Given the description of an element on the screen output the (x, y) to click on. 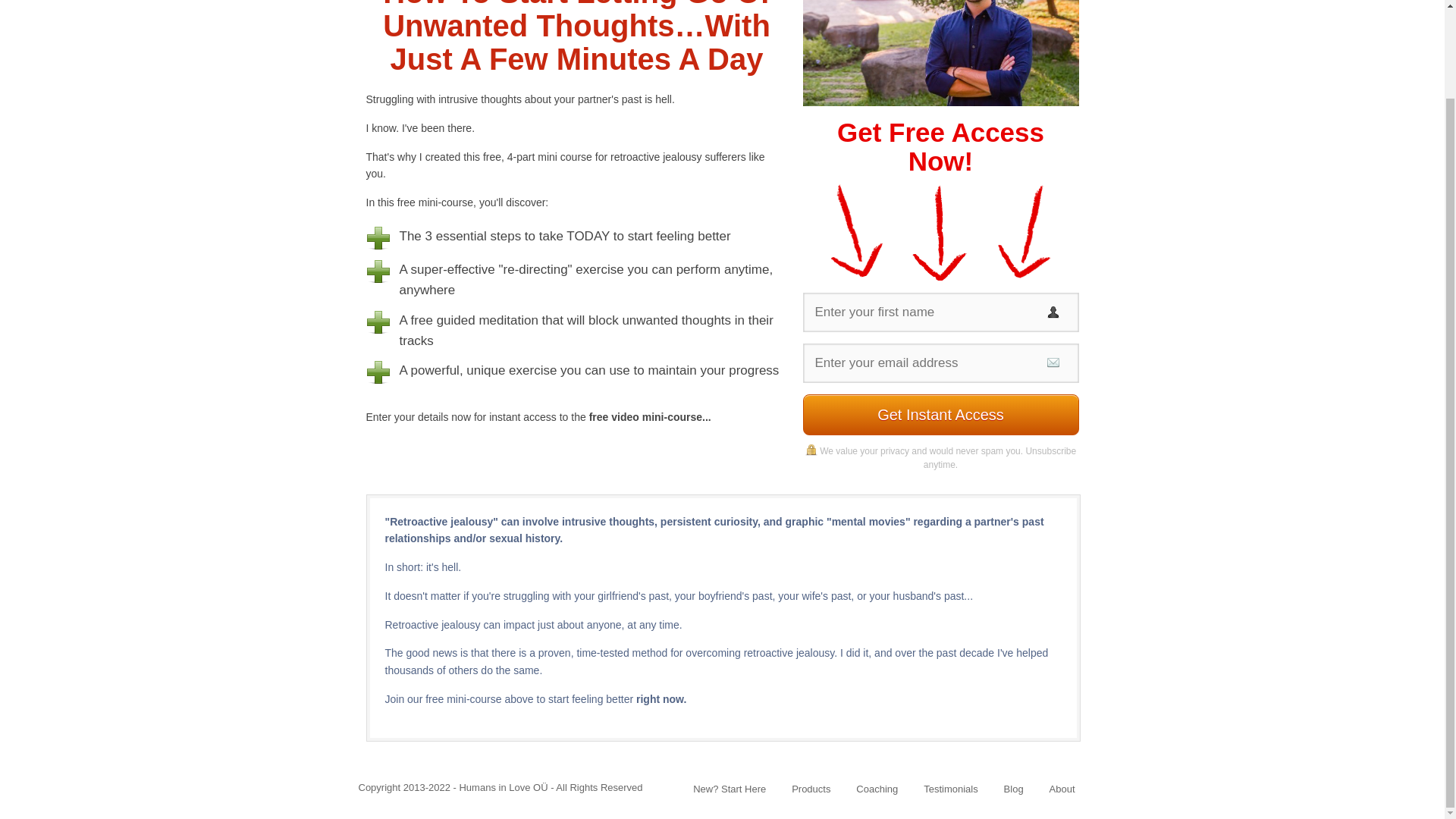
Testimonials (950, 788)
Products (810, 788)
Blog (1013, 788)
New? Start Here (729, 788)
Get Instant Access (940, 413)
About (1062, 788)
Coaching (877, 788)
